Given the description of an element on the screen output the (x, y) to click on. 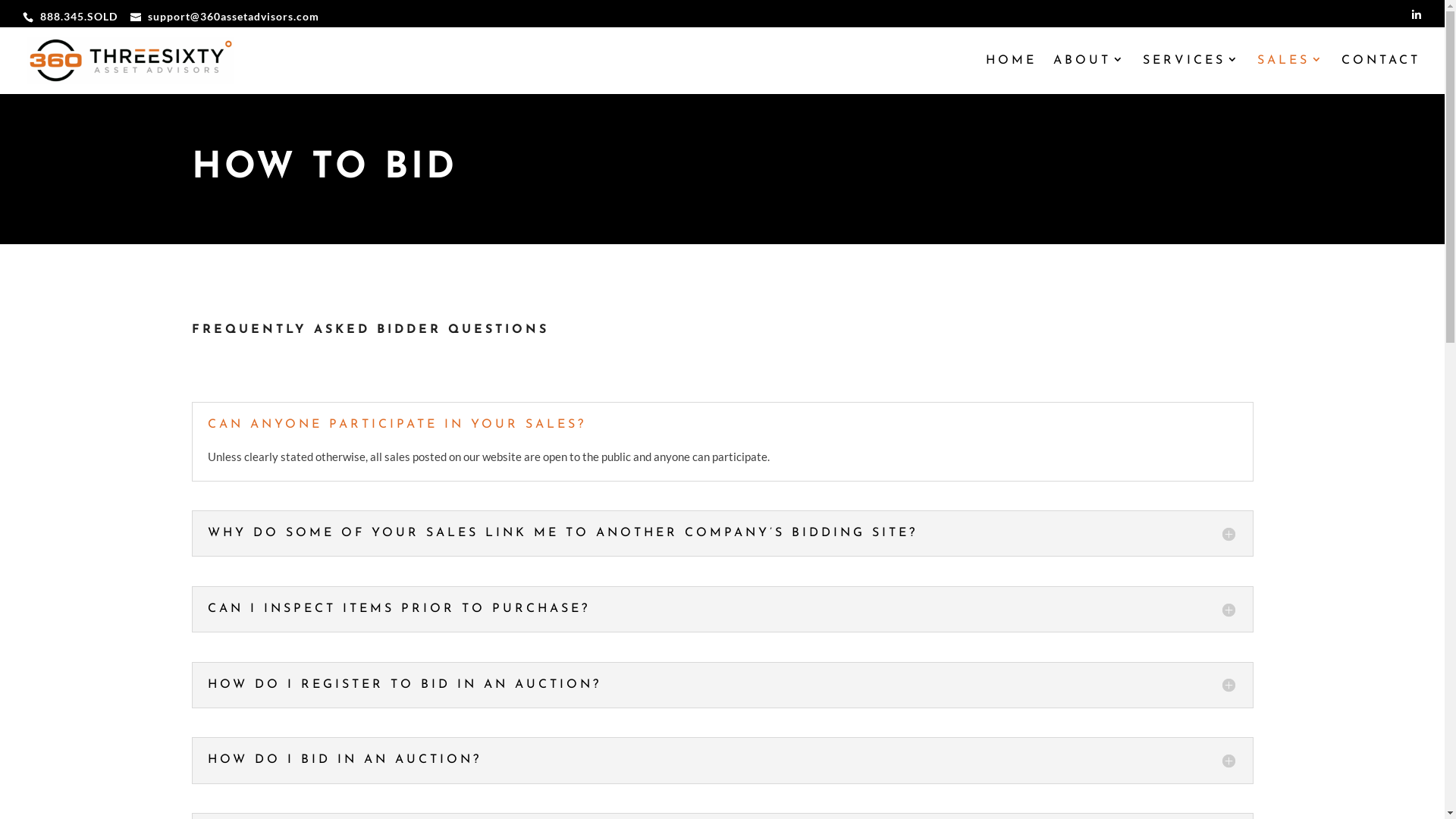
SERVICES Element type: text (1191, 74)
CONTACT Element type: text (1380, 74)
support@360assetadvisors.com Element type: text (224, 15)
HOME Element type: text (1010, 74)
SALES Element type: text (1290, 74)
ABOUT Element type: text (1089, 74)
